Given the description of an element on the screen output the (x, y) to click on. 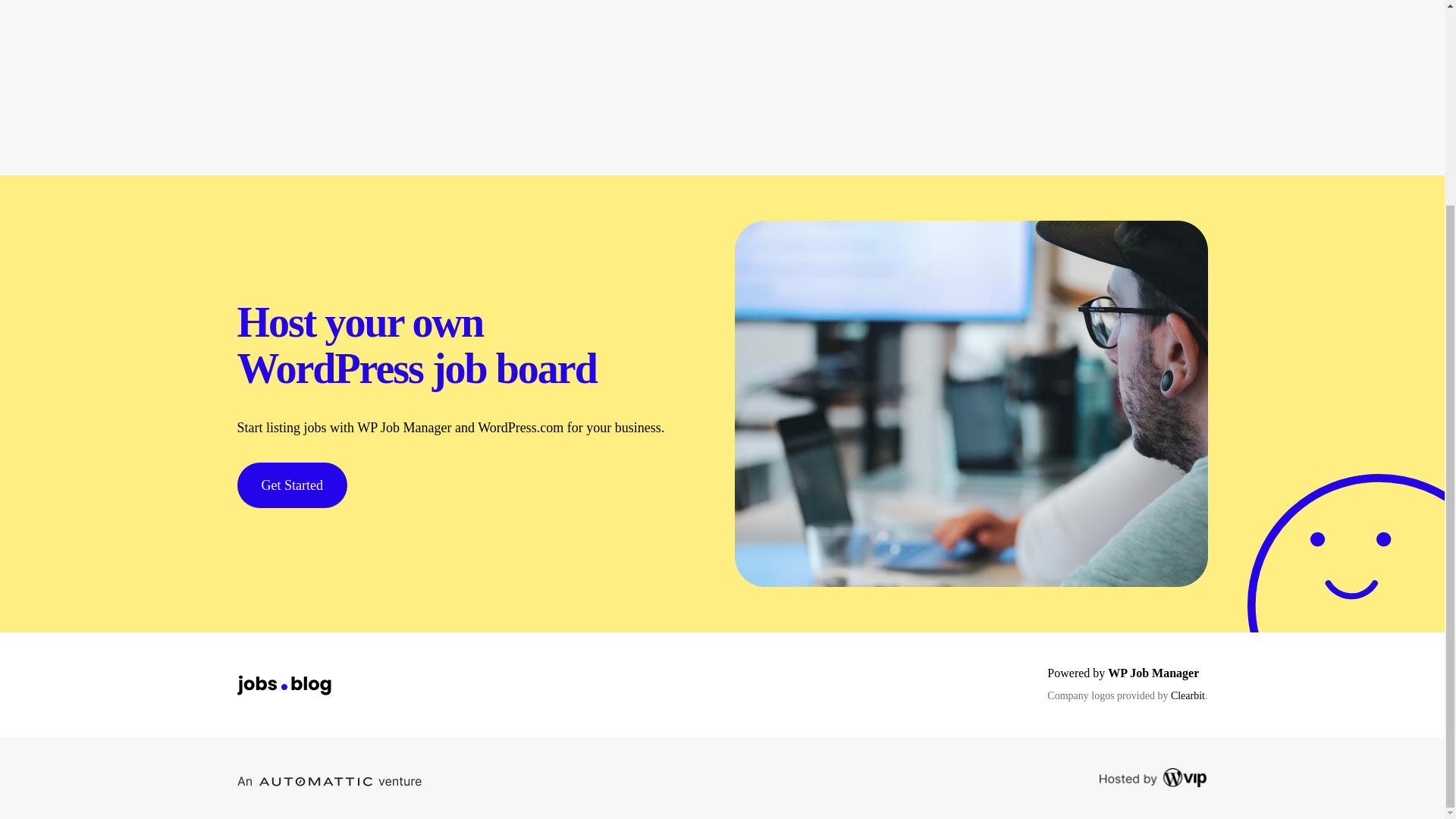
Get Started (290, 484)
WP Job Manager (1153, 672)
Clearbit (1187, 695)
